Given the description of an element on the screen output the (x, y) to click on. 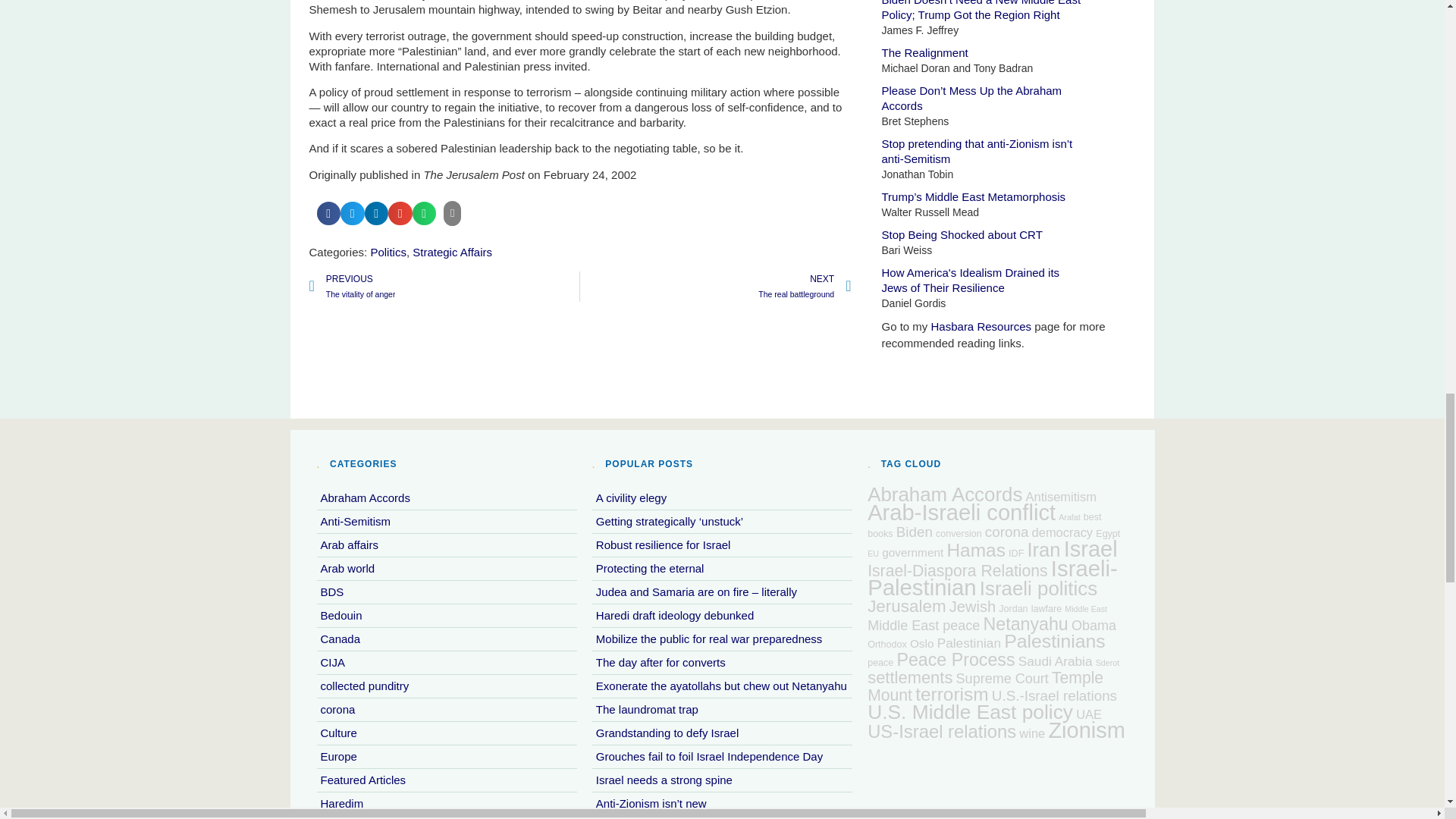
Politics (387, 251)
Strategic Affairs (443, 286)
